Given the description of an element on the screen output the (x, y) to click on. 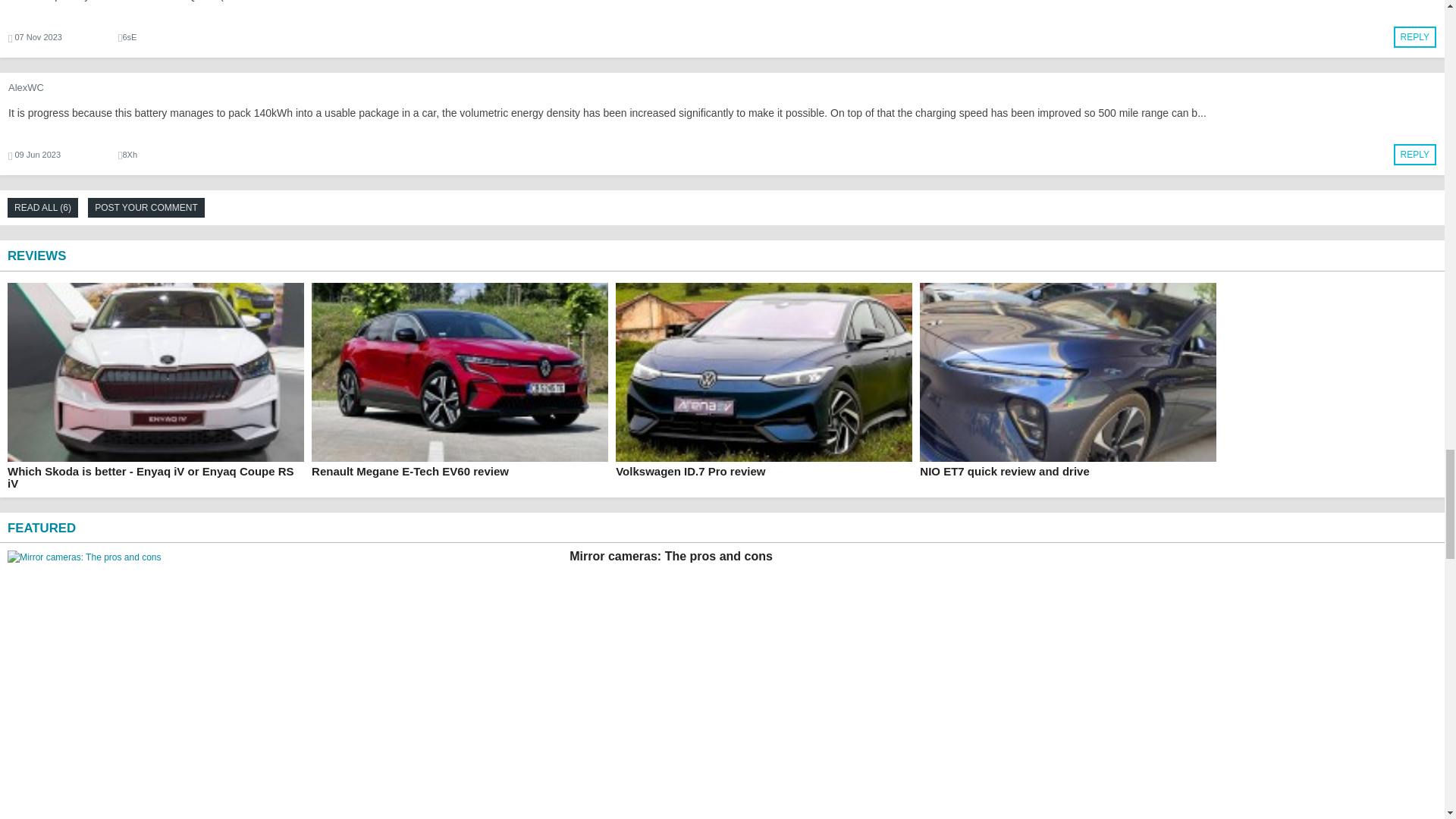
Encoded anonymized location (129, 153)
Reply to this post (1414, 153)
Encoded anonymized location (129, 36)
Reply to this post (1414, 36)
